Given the description of an element on the screen output the (x, y) to click on. 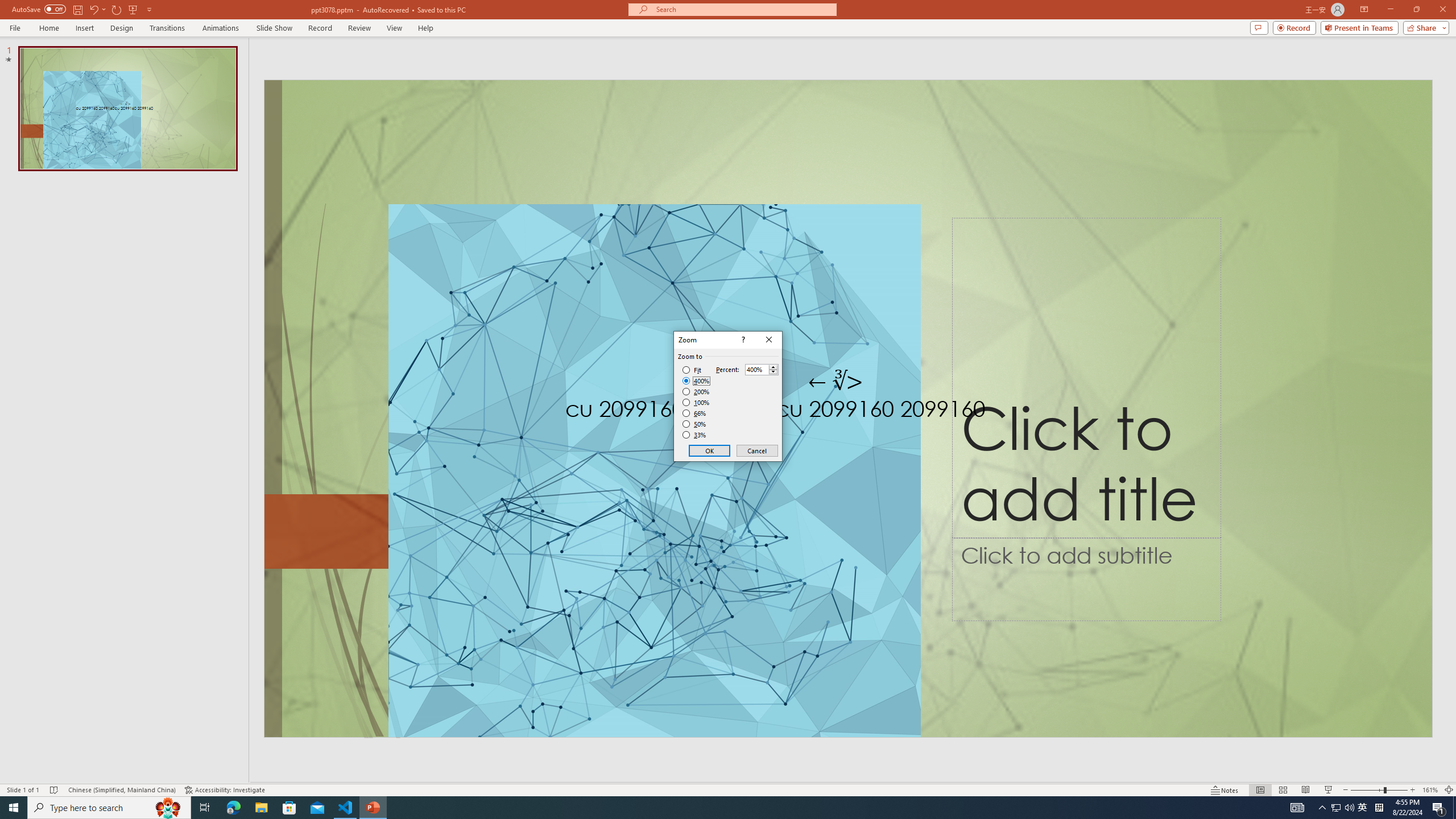
400% (696, 380)
Fit (691, 370)
100% (696, 402)
33% (694, 434)
